Given the description of an element on the screen output the (x, y) to click on. 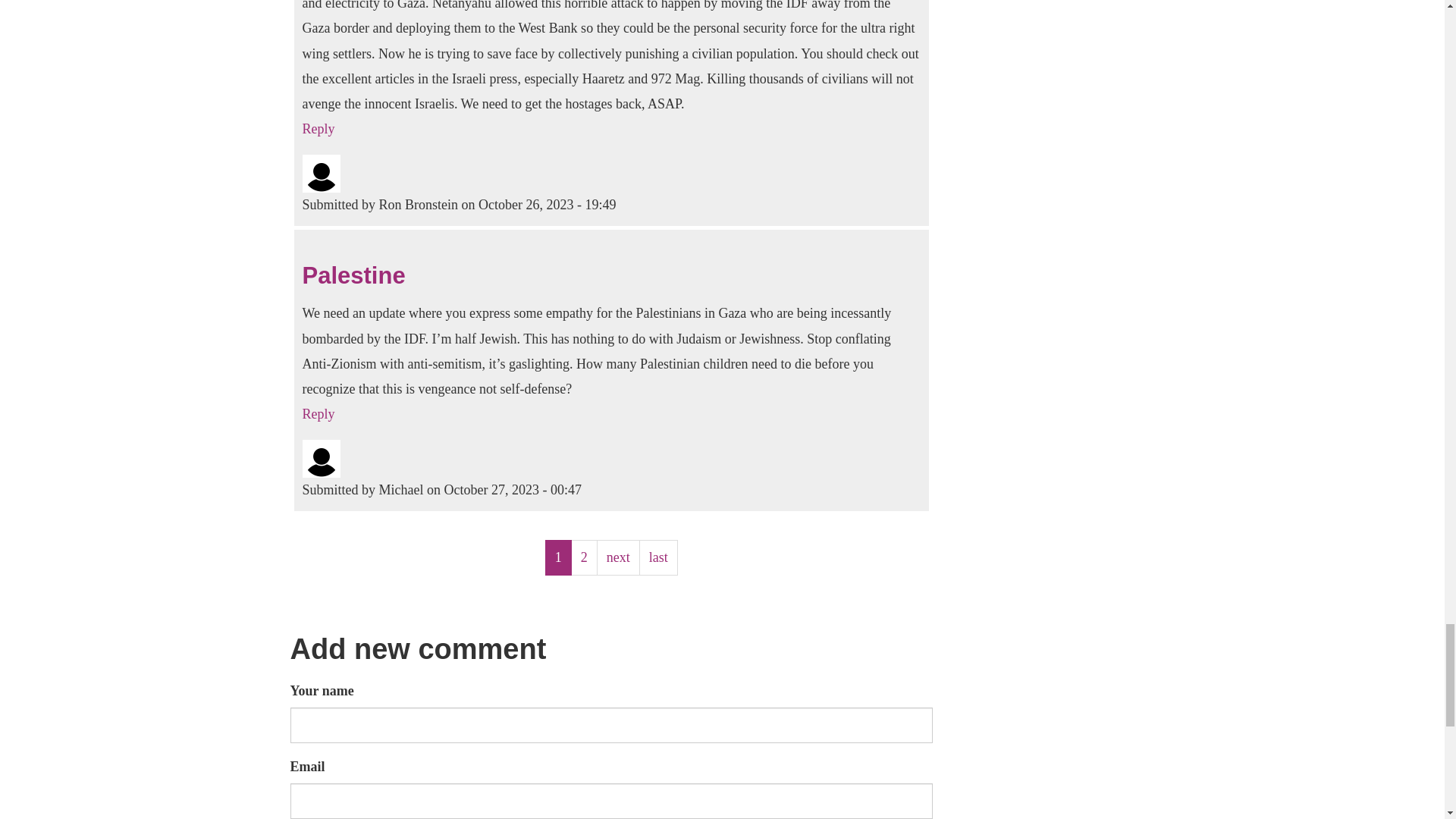
Go to next page (618, 557)
Go to last page (658, 557)
